Given the description of an element on the screen output the (x, y) to click on. 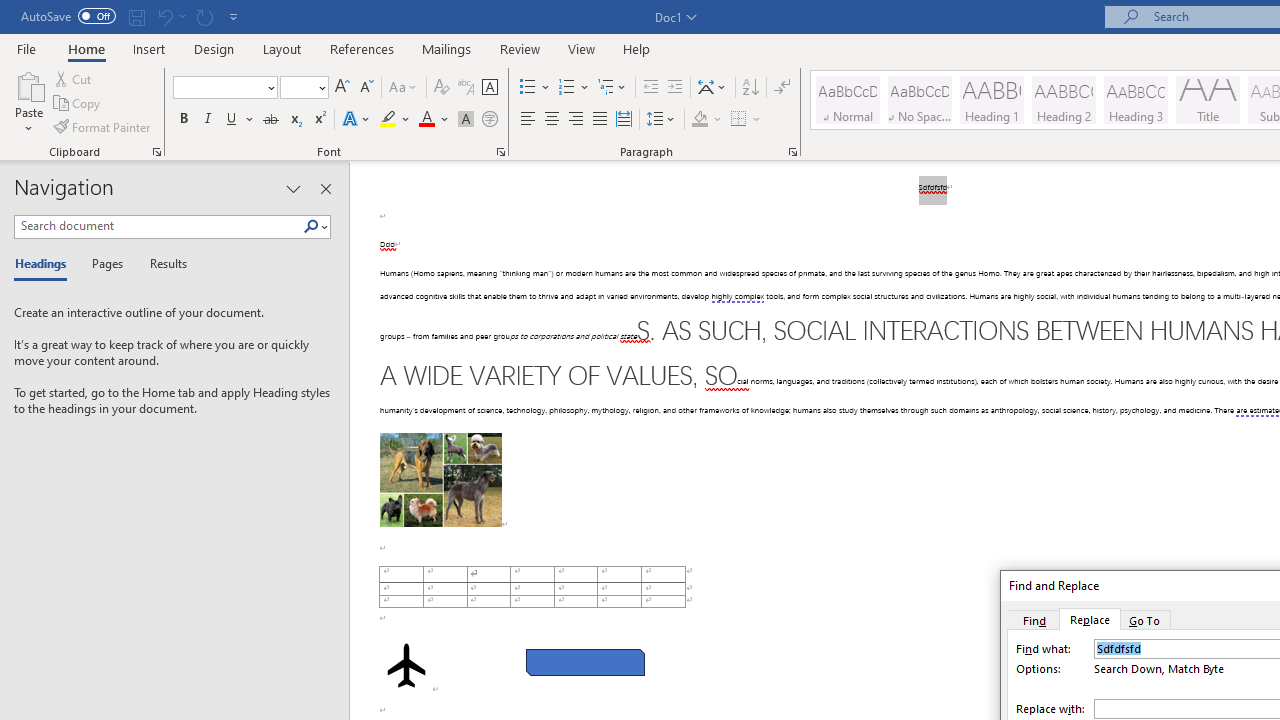
Undo Paragraph Alignment (170, 15)
Font Color Red (426, 119)
Heading 1 (991, 100)
Airplane with solid fill (406, 665)
Align Right (575, 119)
Multilevel List (613, 87)
